Given the description of an element on the screen output the (x, y) to click on. 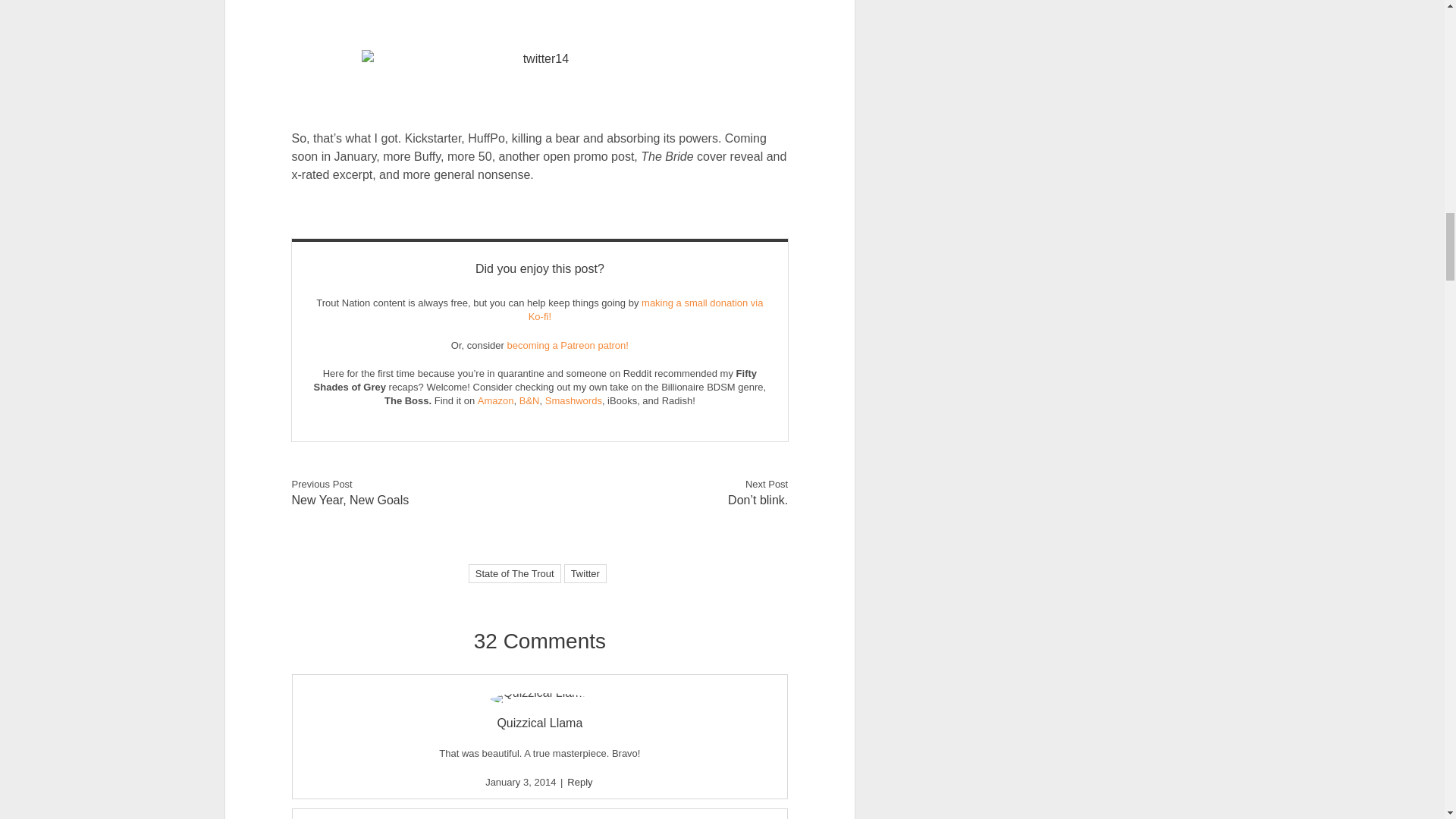
becoming a Patreon patron! (566, 345)
View all posts tagged Twitter (584, 573)
Amazon (495, 400)
making a small donation via Ko-fi! (645, 309)
View all posts tagged State of The Trout (514, 573)
